Given the description of an element on the screen output the (x, y) to click on. 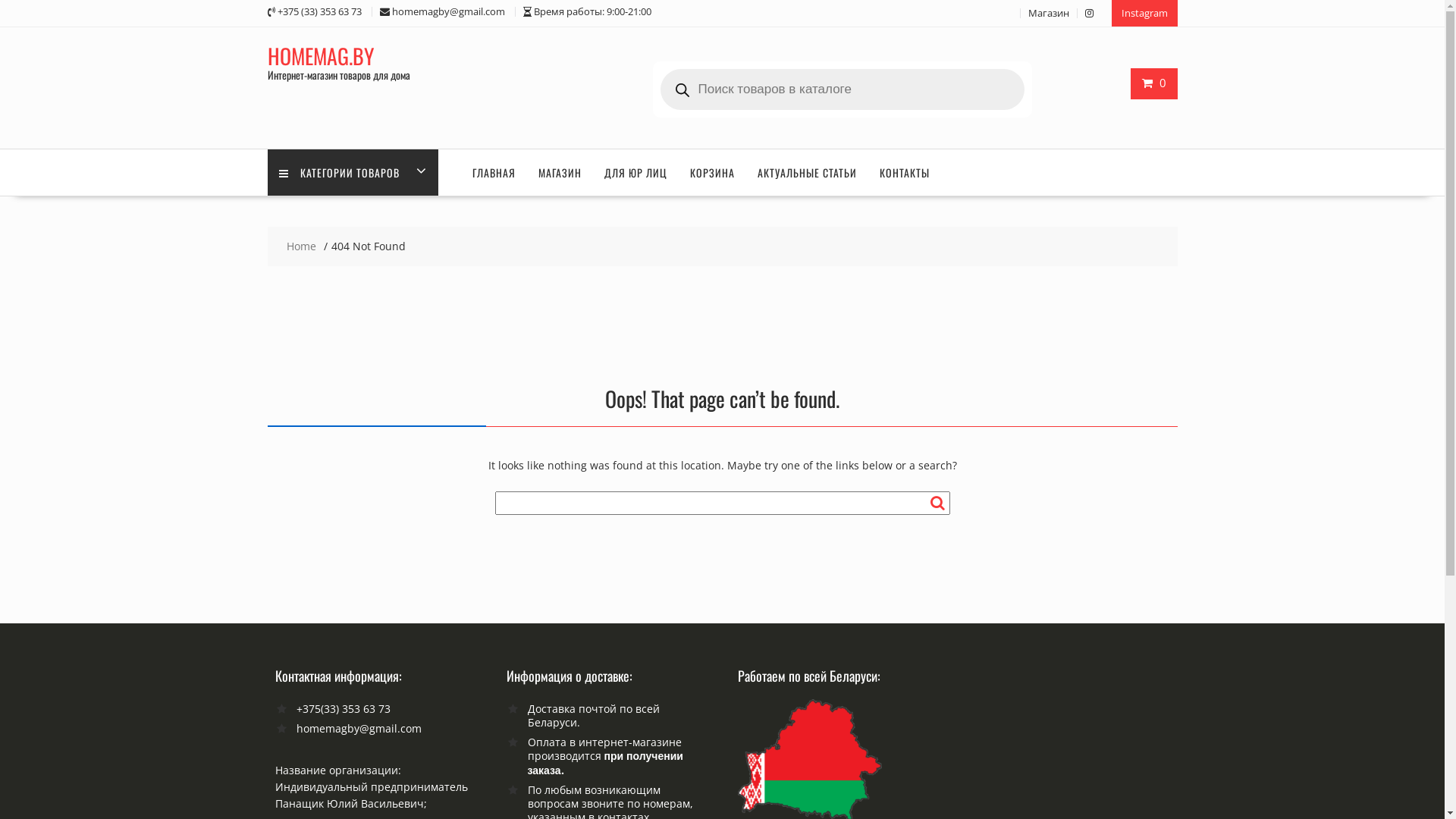
0 Element type: text (1154, 82)
Instagram Element type: text (1144, 13)
HOMEMAG.BY Element type: text (319, 55)
Home Element type: text (301, 246)
